Given the description of an element on the screen output the (x, y) to click on. 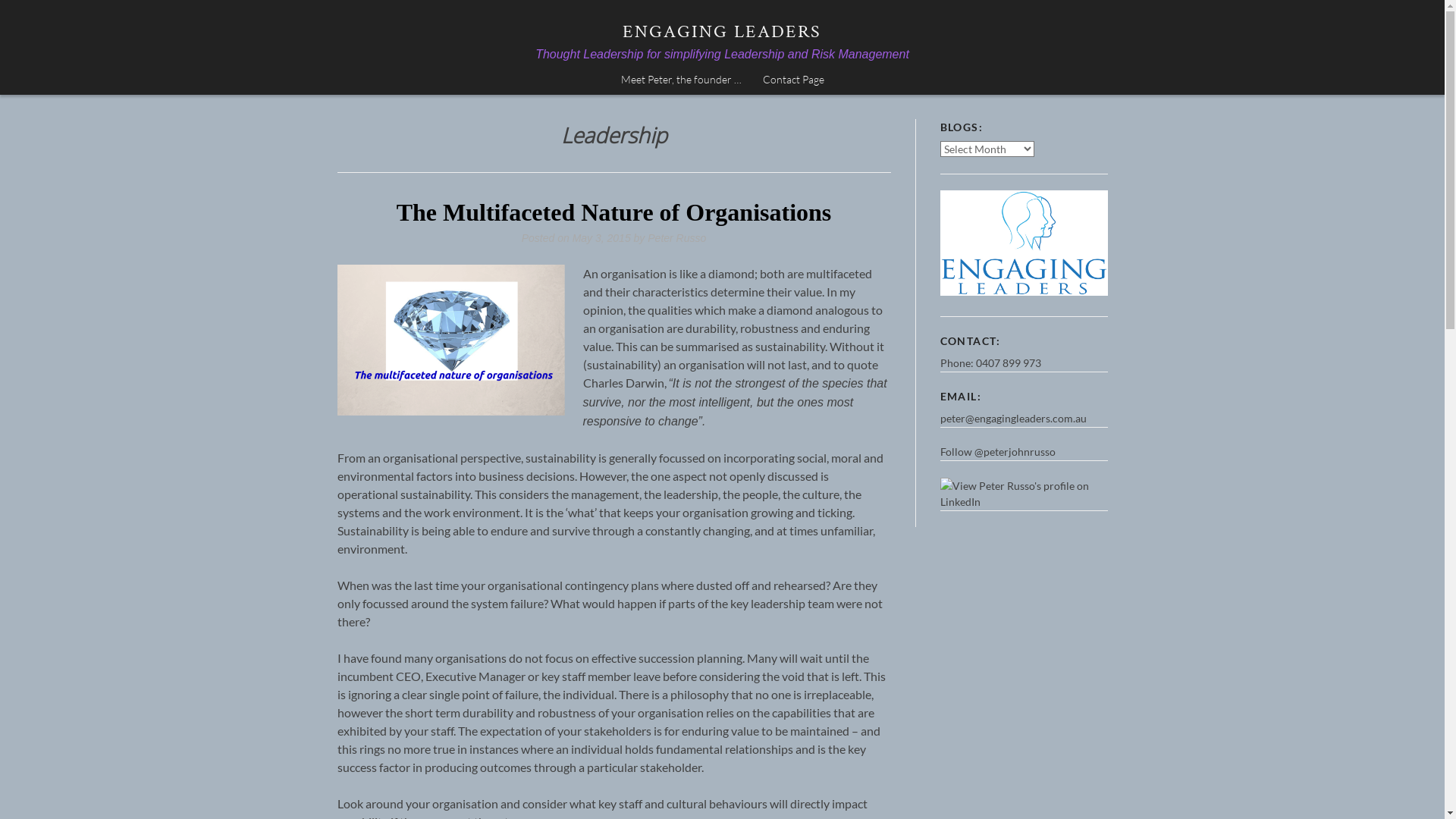
May 3, 2015 Element type: text (601, 238)
Follow @peterjohnrusso Element type: text (997, 451)
Contact Page Element type: text (793, 79)
peter@engagingleaders.com.au Element type: text (1013, 417)
ENGAGING LEADERS Element type: text (721, 31)
The Multifaceted Nature of Organisations Element type: text (613, 211)
Peter Russo Element type: text (676, 238)
